Given the description of an element on the screen output the (x, y) to click on. 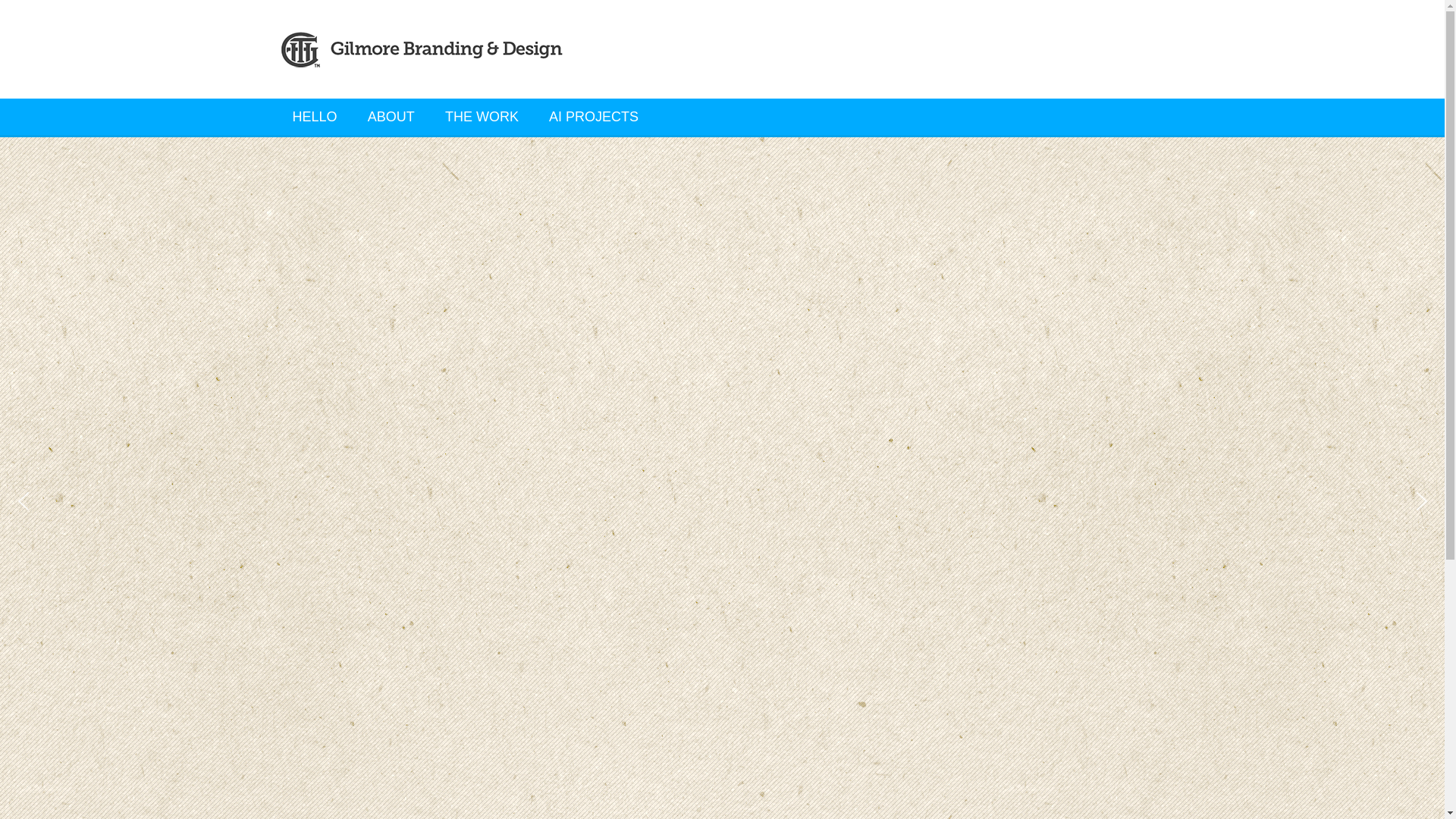
ABOUT (390, 116)
HELLO (314, 116)
THE WORK (481, 116)
AI PROJECTS (593, 116)
